Given the description of an element on the screen output the (x, y) to click on. 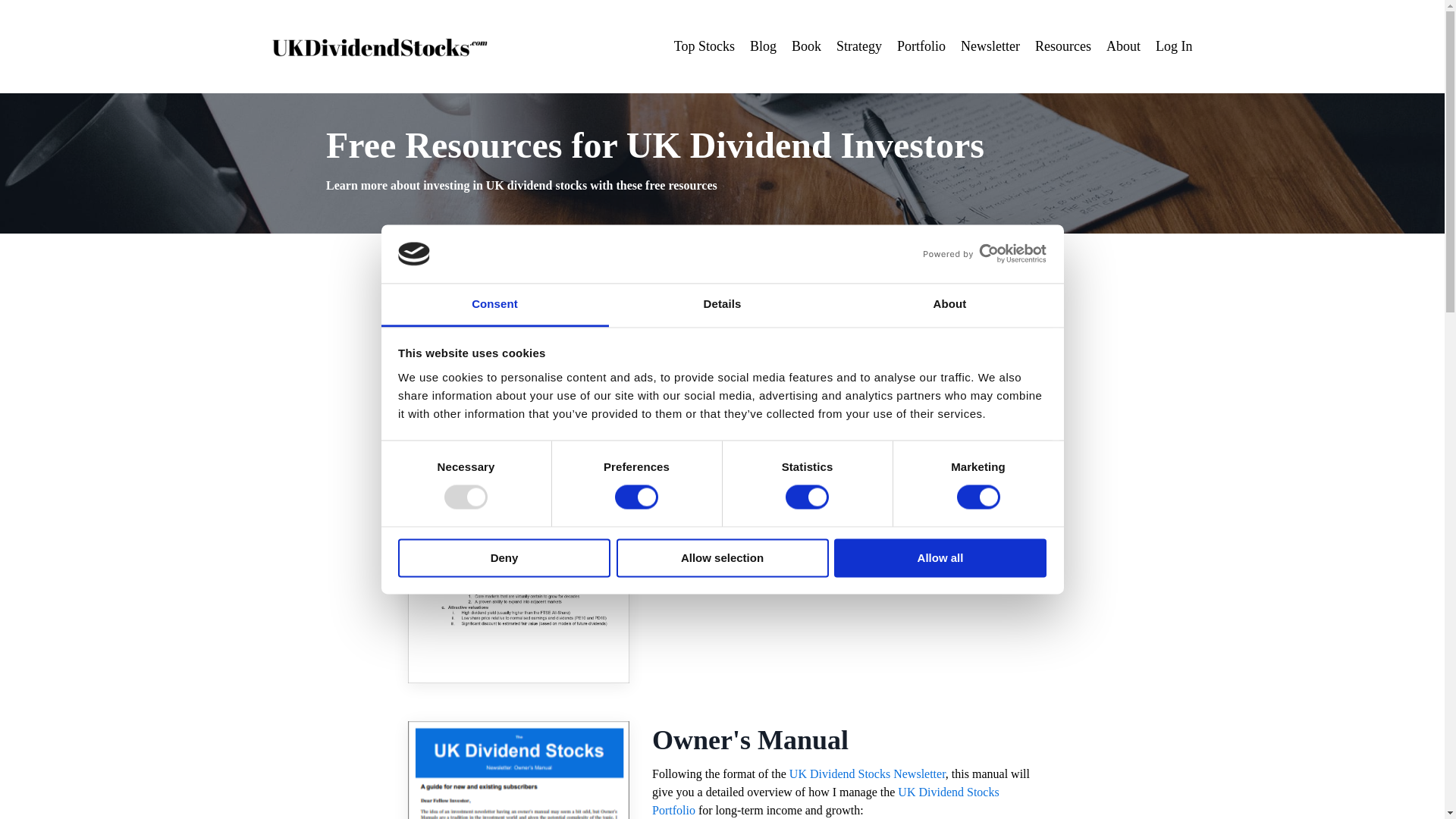
Details (721, 304)
Consent (494, 304)
About (948, 304)
